Given the description of an element on the screen output the (x, y) to click on. 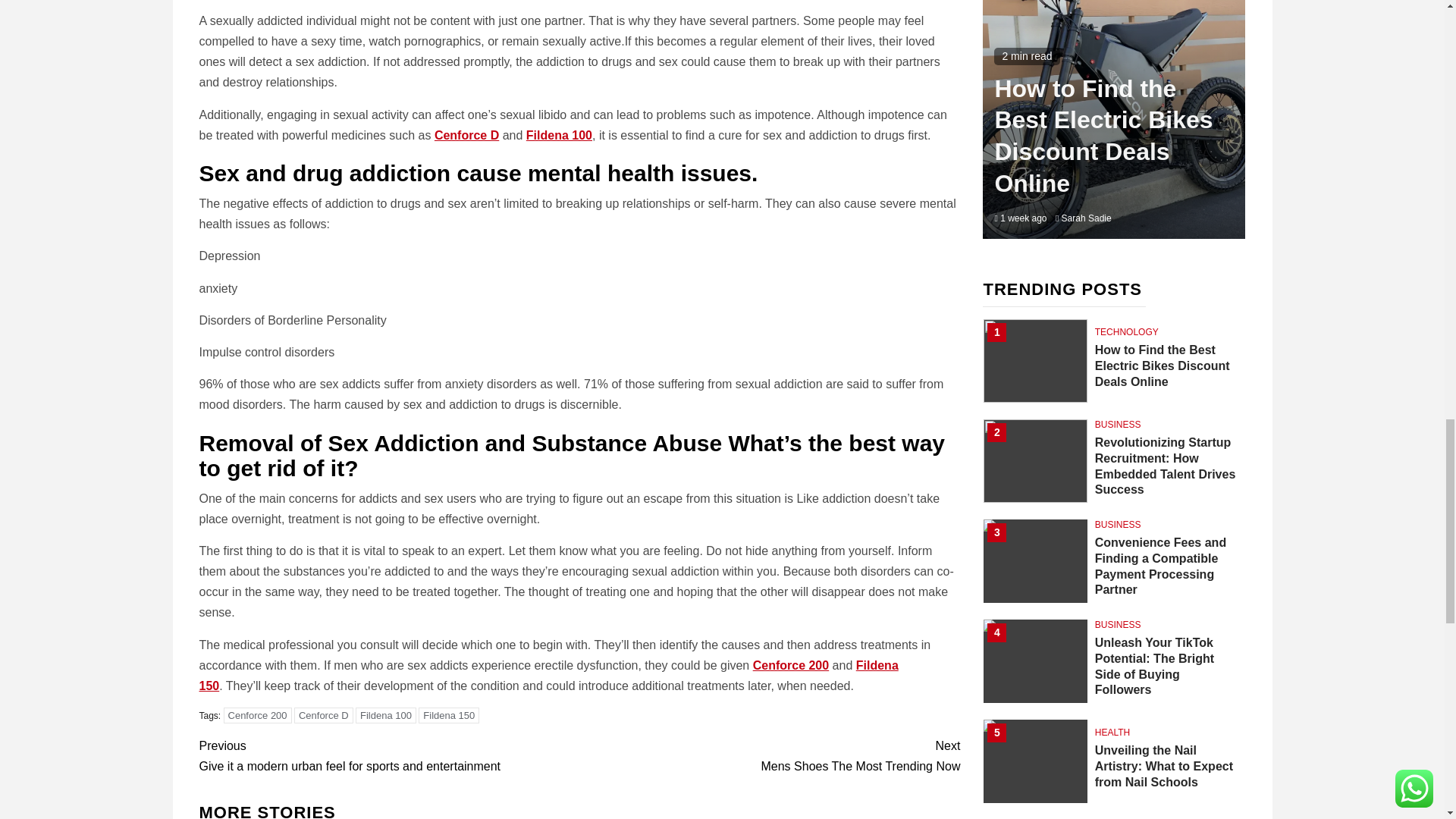
Cenforce 200 (258, 715)
Fildena 100 (385, 715)
Fildena 150 (449, 715)
Fildena 150 (769, 755)
Cenforce D (548, 675)
Cenforce D (466, 134)
Fildena 100 (323, 715)
Cenforce 200 (558, 134)
